Given the description of an element on the screen output the (x, y) to click on. 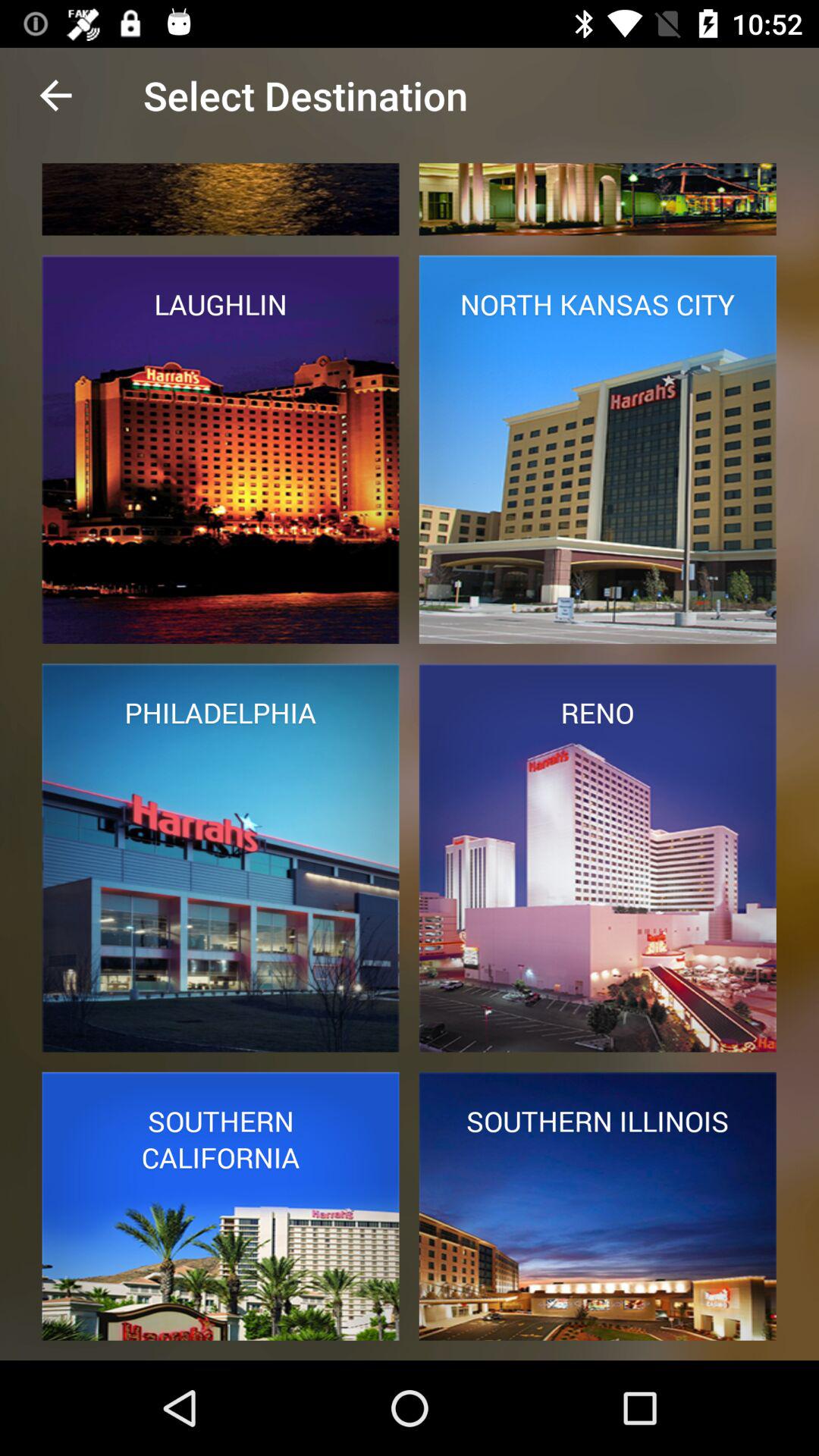
select the image which is above philadelphia on the page (220, 449)
select the image which says southern illinois (597, 1205)
select the image which is below the image north kansas city (597, 857)
select the image which is below select destination on the page (220, 199)
